Given the description of an element on the screen output the (x, y) to click on. 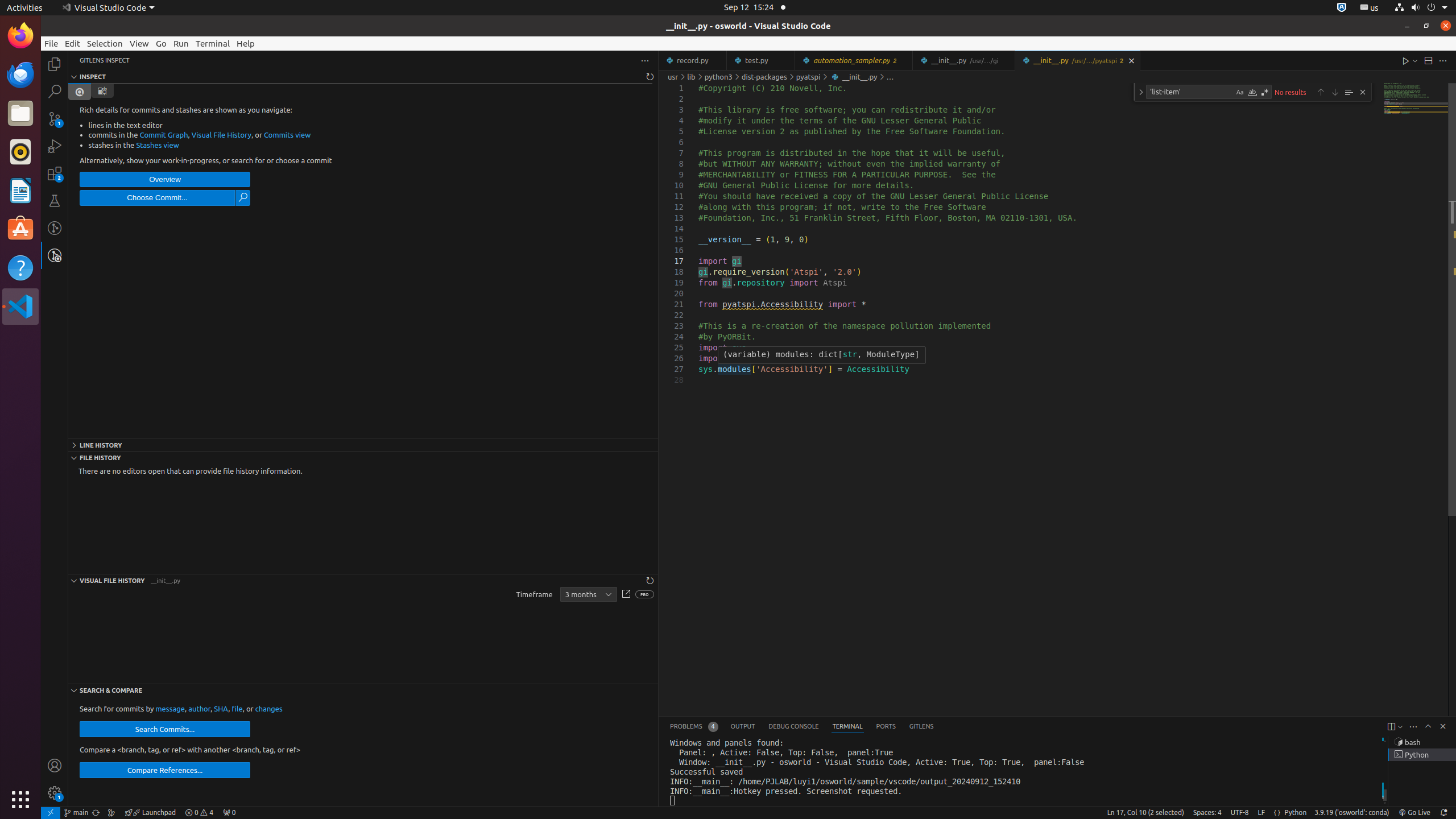
Split Editor Down Element type: push-button (1427, 60)
Spaces: 4 Element type: push-button (1206, 812)
File History Section Element type: push-button (363, 457)
Firefox Web Browser Element type: push-button (20, 35)
